Given the description of an element on the screen output the (x, y) to click on. 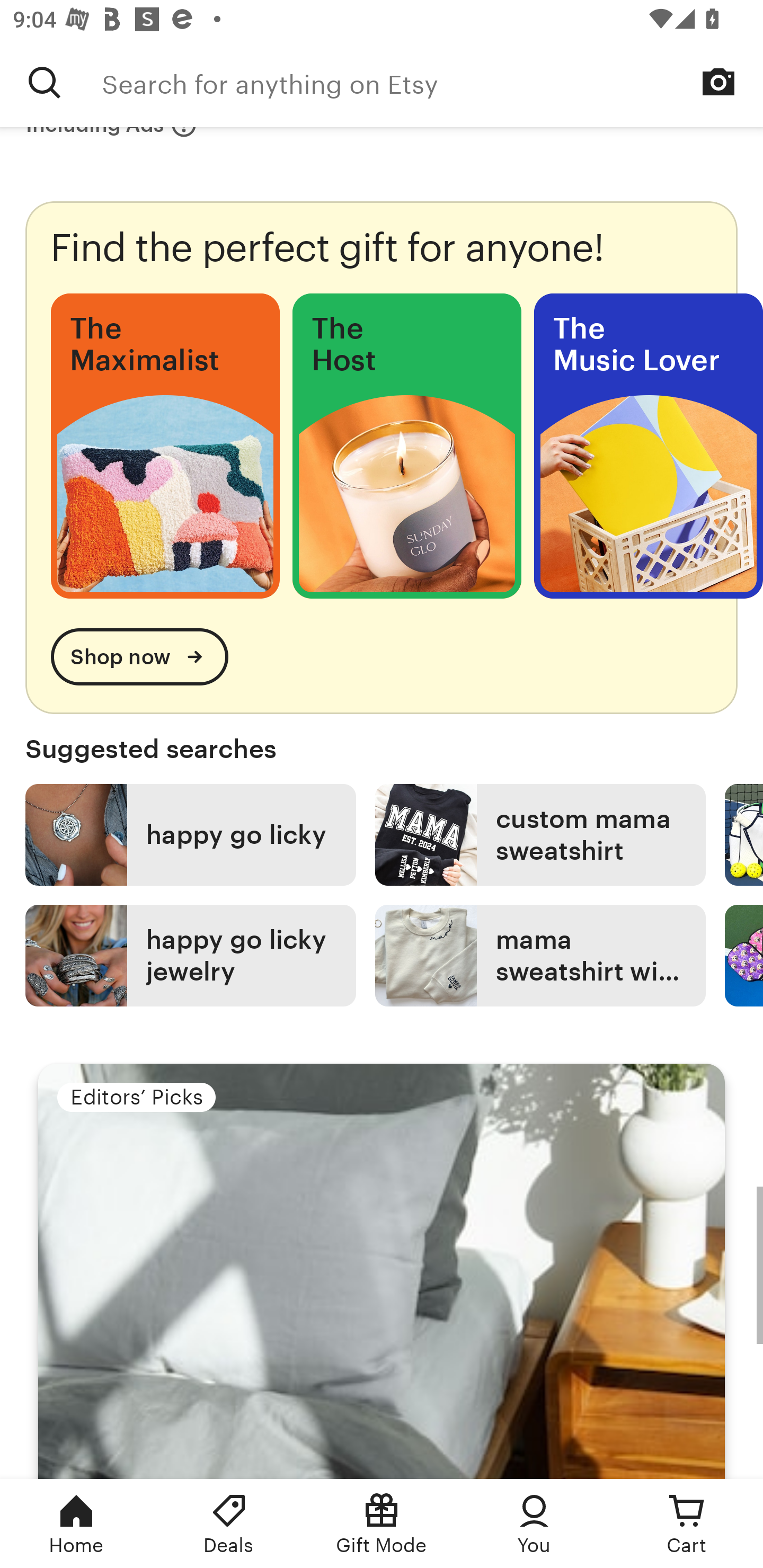
Search for anything on Etsy (44, 82)
Search by image (718, 81)
Search for anything on Etsy (432, 82)
Find the perfect gift for anyone! Shop now (381, 456)
The Maximalist (165, 445)
The Host (406, 445)
The Music Lover (648, 445)
Shop now (139, 656)
Suggested searches (381, 748)
happy go licky (190, 834)
custom mama sweatshirt (540, 834)
happy go licky jewelry (190, 955)
mama sweatshirt with kid name (540, 955)
Editors’ Picks (381, 1270)
Deals (228, 1523)
Gift Mode (381, 1523)
You (533, 1523)
Cart (686, 1523)
